Given the description of an element on the screen output the (x, y) to click on. 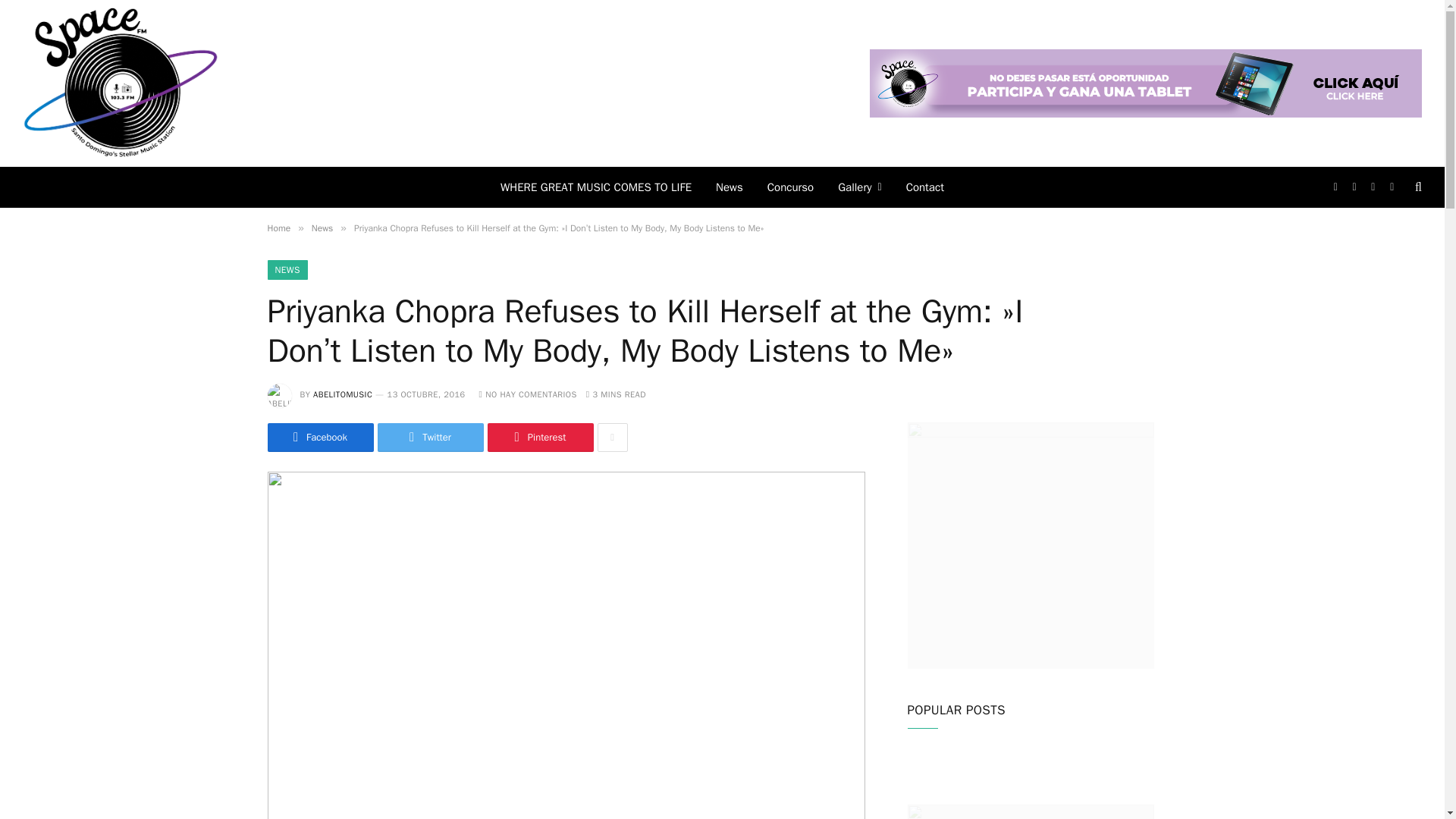
Entradas de AbelitoMusic (342, 394)
Share on Pinterest (539, 437)
News (729, 187)
NO HAY COMENTARIOS (527, 394)
ABELITOMUSIC (342, 394)
Facebook (319, 437)
Concurso (790, 187)
Gallery (859, 187)
News (322, 227)
Show More Social Sharing (611, 437)
